Given the description of an element on the screen output the (x, y) to click on. 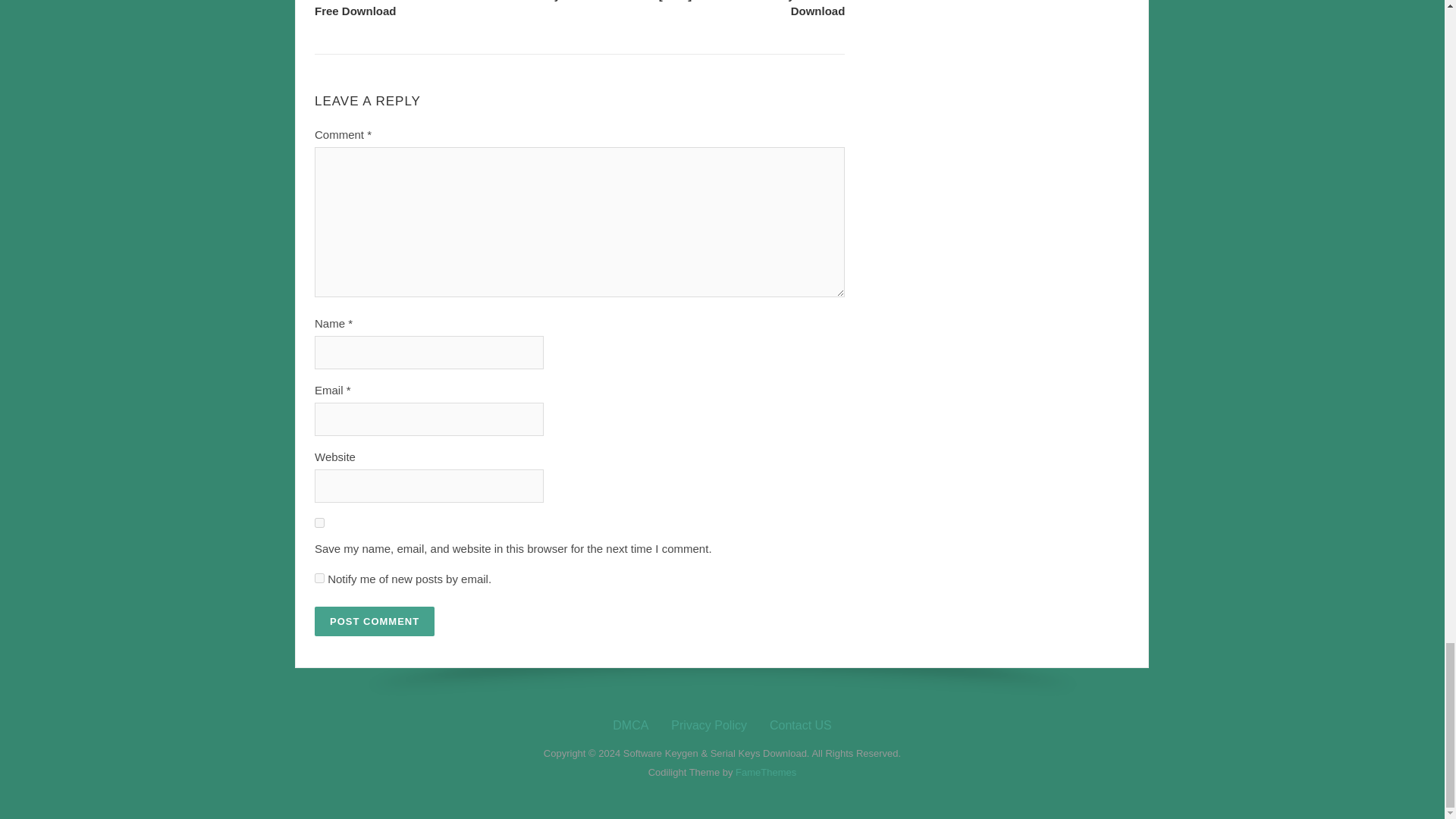
subscribe (319, 578)
yes (319, 522)
Post Comment (373, 621)
Post Comment (373, 621)
